Given the description of an element on the screen output the (x, y) to click on. 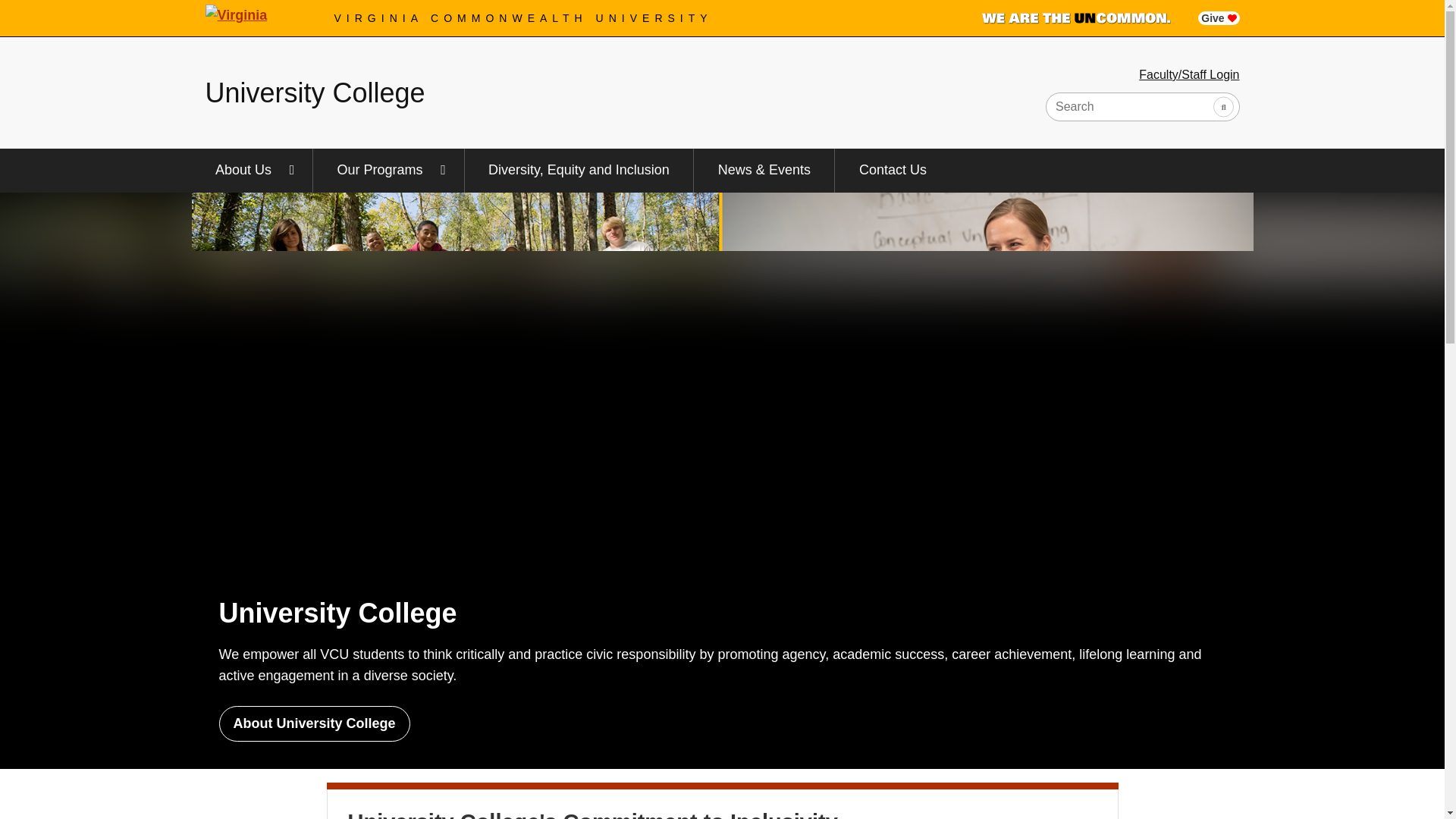
Contact Us (892, 170)
VIRGINIA COMMONWEALTH UNIVERSITY (523, 18)
We are the UNCOMMON. (1075, 17)
About Us (251, 170)
Give  (1218, 18)
Our Programs (388, 170)
Diversity, Equity and Inclusion (579, 170)
About University College (313, 723)
University College (315, 92)
